Given the description of an element on the screen output the (x, y) to click on. 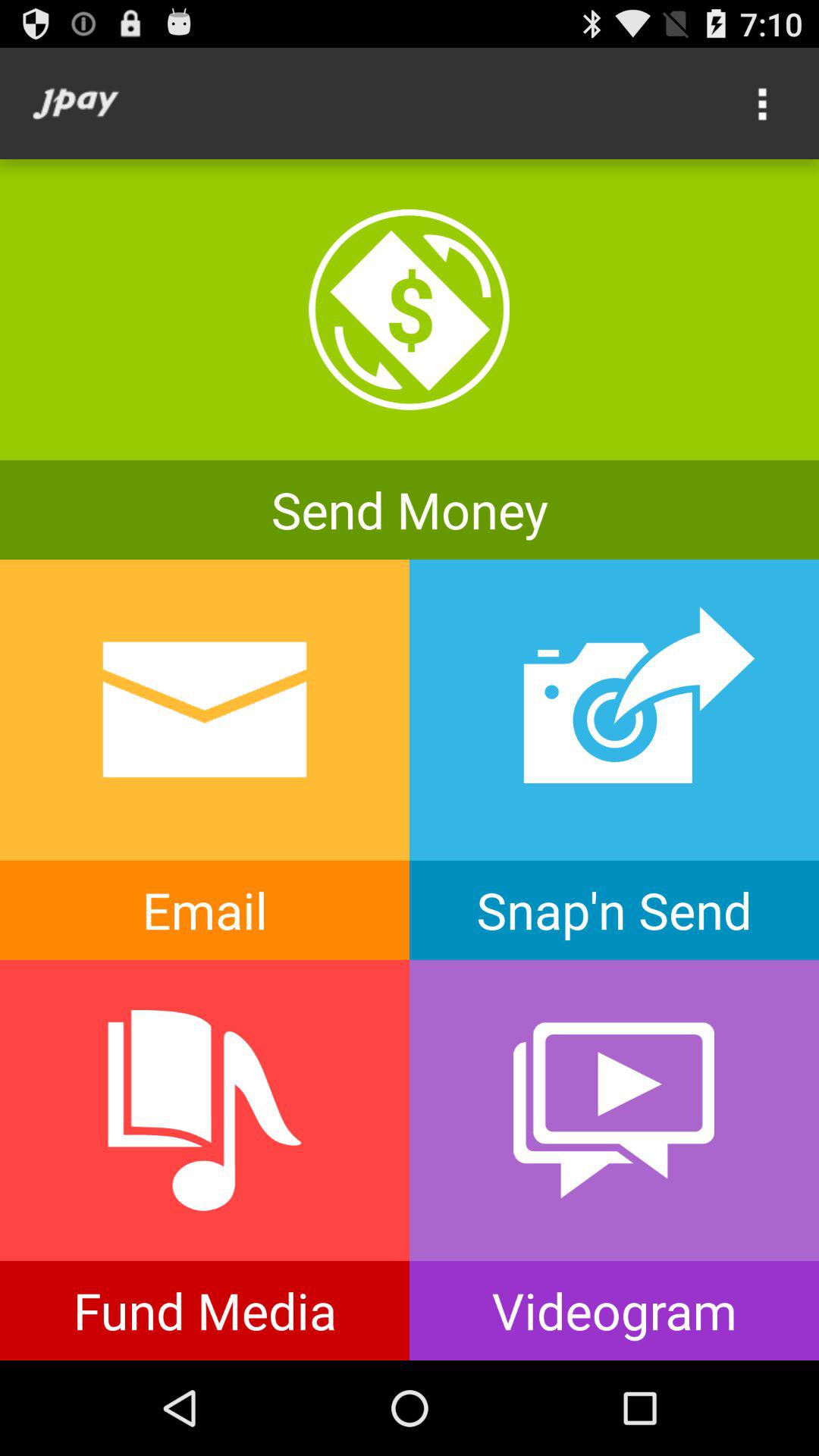
press the icon at the top left corner (75, 103)
